Given the description of an element on the screen output the (x, y) to click on. 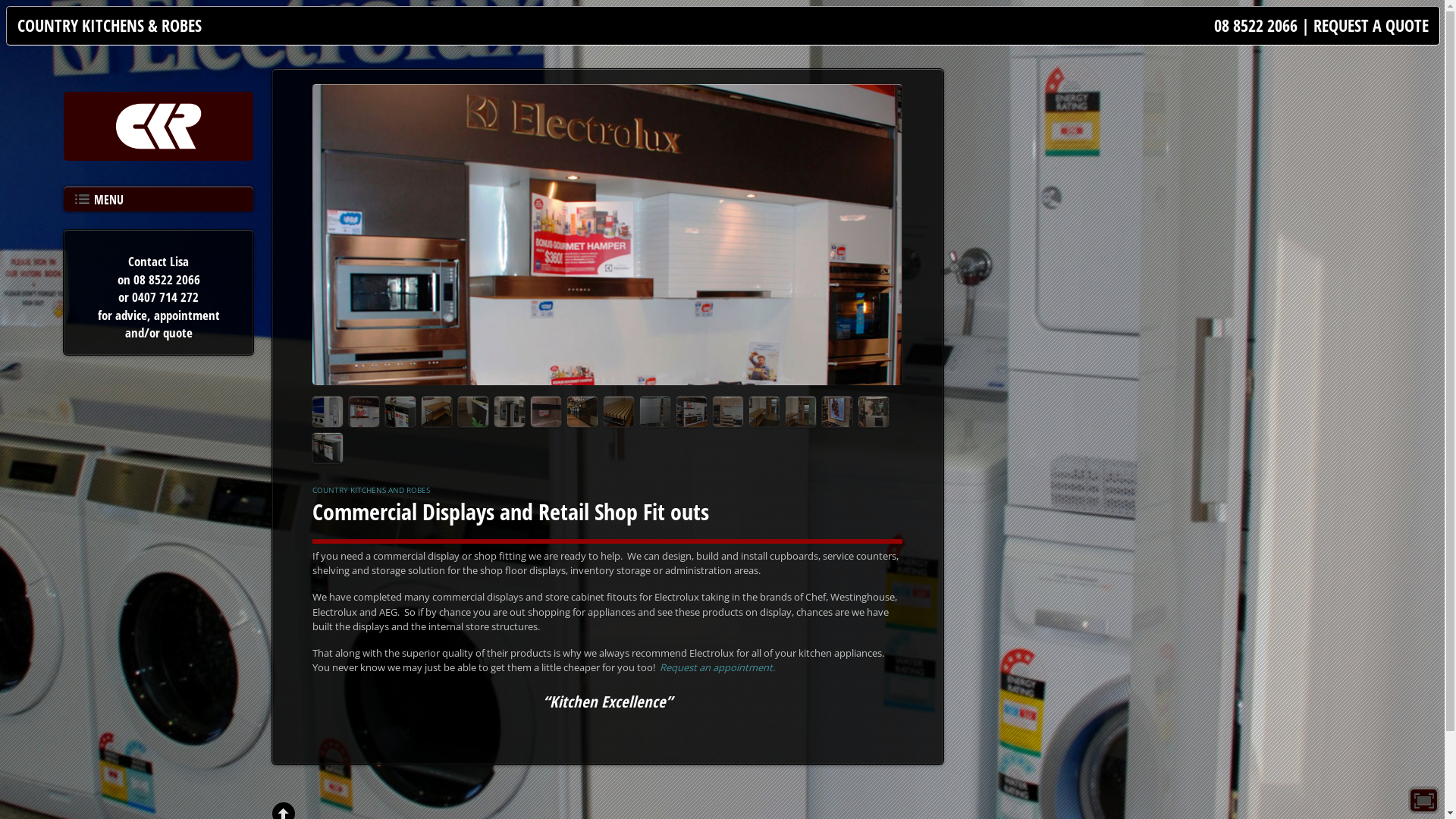
0407 714 272 Element type: text (164, 296)
Commercial Displays and Retail Shop Fit outs Element type: text (510, 511)
COUNTRY KITCHENS AND ROBES Element type: text (370, 489)
08 8522 2066 Element type: text (165, 279)
08 8522 2066 Element type: text (1255, 25)
Request an appointment. Element type: text (717, 667)
fullscreen Element type: text (1423, 799)
REQUEST A QUOTE Element type: text (1370, 25)
